Given the description of an element on the screen output the (x, y) to click on. 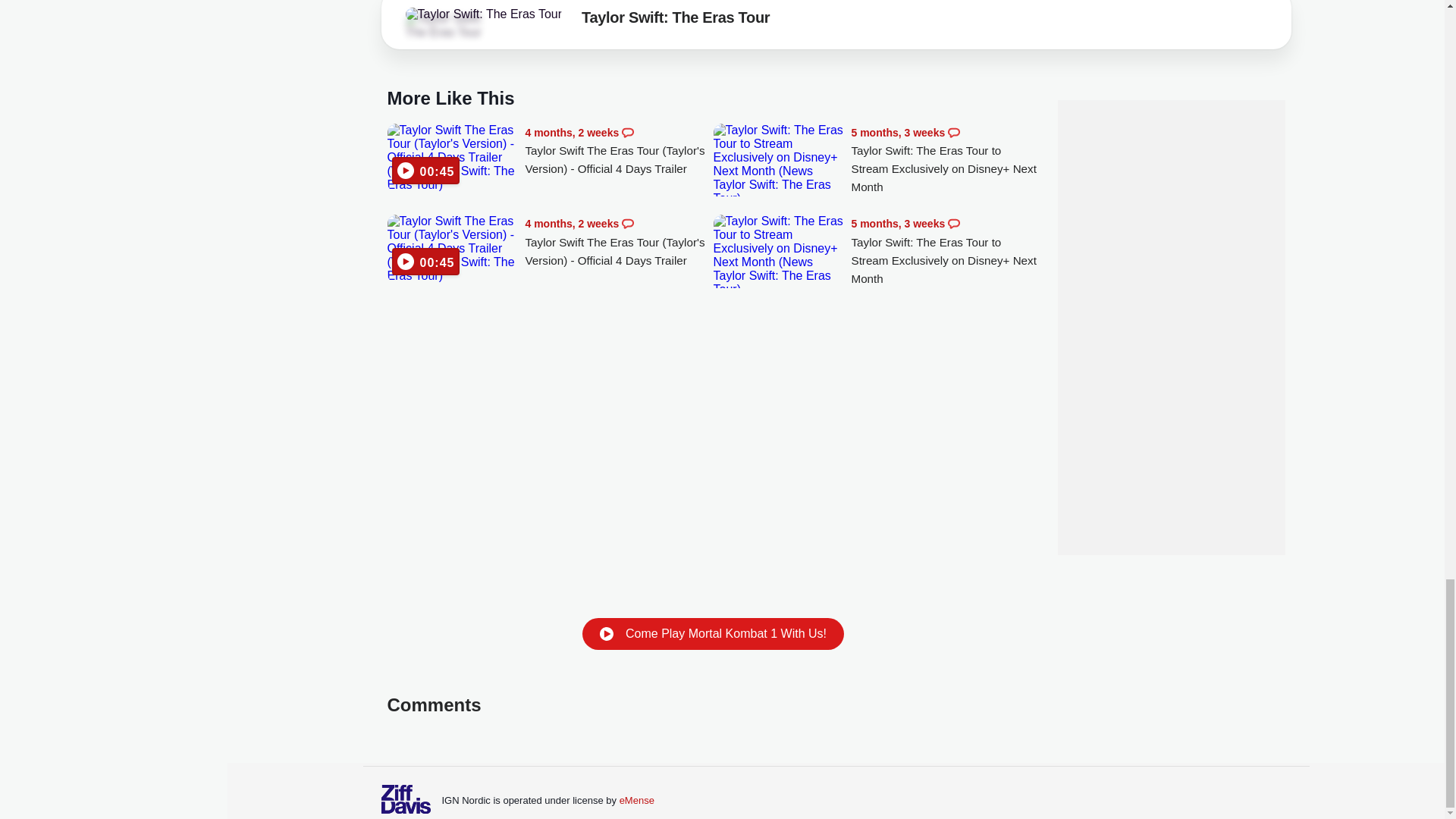
Comments (627, 223)
Comments (953, 223)
Taylor Swift: The Eras Tour (448, 25)
Comments (953, 132)
Taylor Swift: The Eras Tour (483, 14)
Taylor Swift: The Eras Tour (675, 20)
Comments (627, 132)
